Given the description of an element on the screen output the (x, y) to click on. 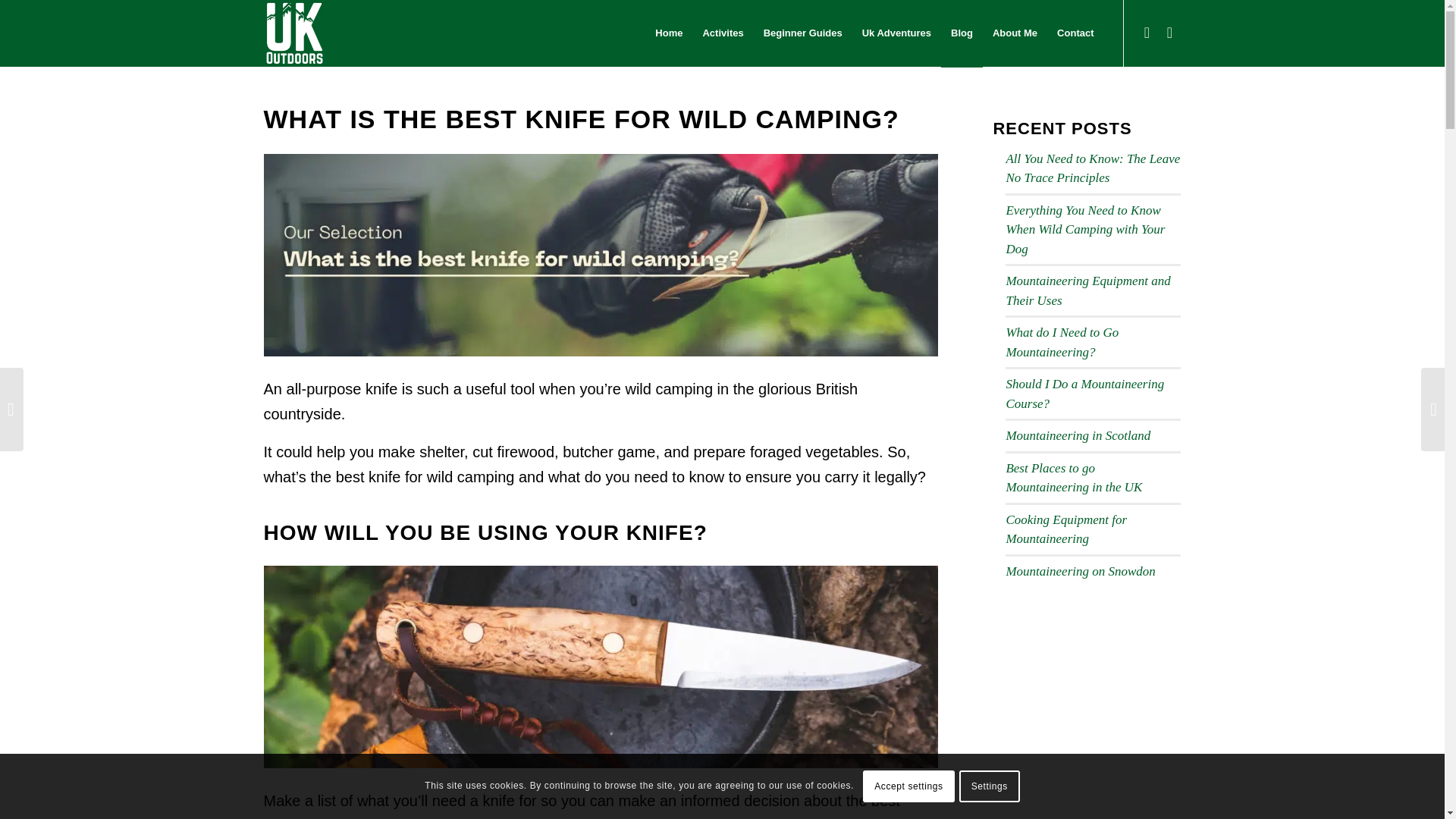
Mountaineering Equipment and Their Uses (1088, 290)
Pinterest (1146, 32)
Facebook (1169, 32)
About Me (1014, 33)
Activites (722, 33)
Should I Do a Mountaineering Course? (1084, 393)
Beginner Guides (802, 33)
What do I Need to Go Mountaineering? (1062, 342)
Uk Adventures (895, 33)
